Given the description of an element on the screen output the (x, y) to click on. 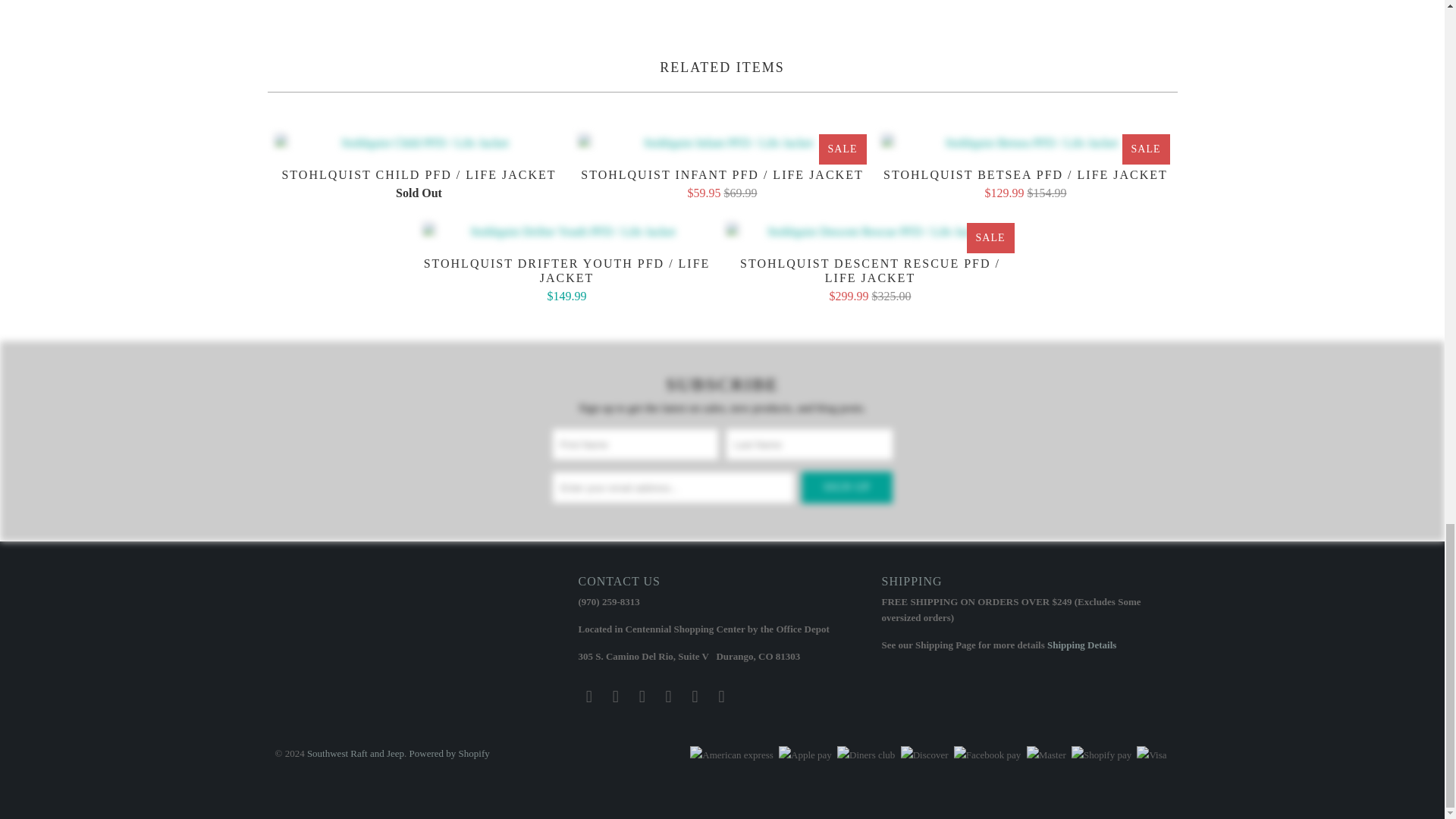
Southwest Raft and Jeep on YouTube (641, 696)
Southwest Raft and Jeep on Twitter (588, 696)
Southwest Raft and Jeep on Facebook (615, 696)
Southwest Raft and Jeep on Instagram (695, 696)
Southwest Raft and Jeep on Pinterest (668, 696)
Sign Up (847, 487)
